Given the description of an element on the screen output the (x, y) to click on. 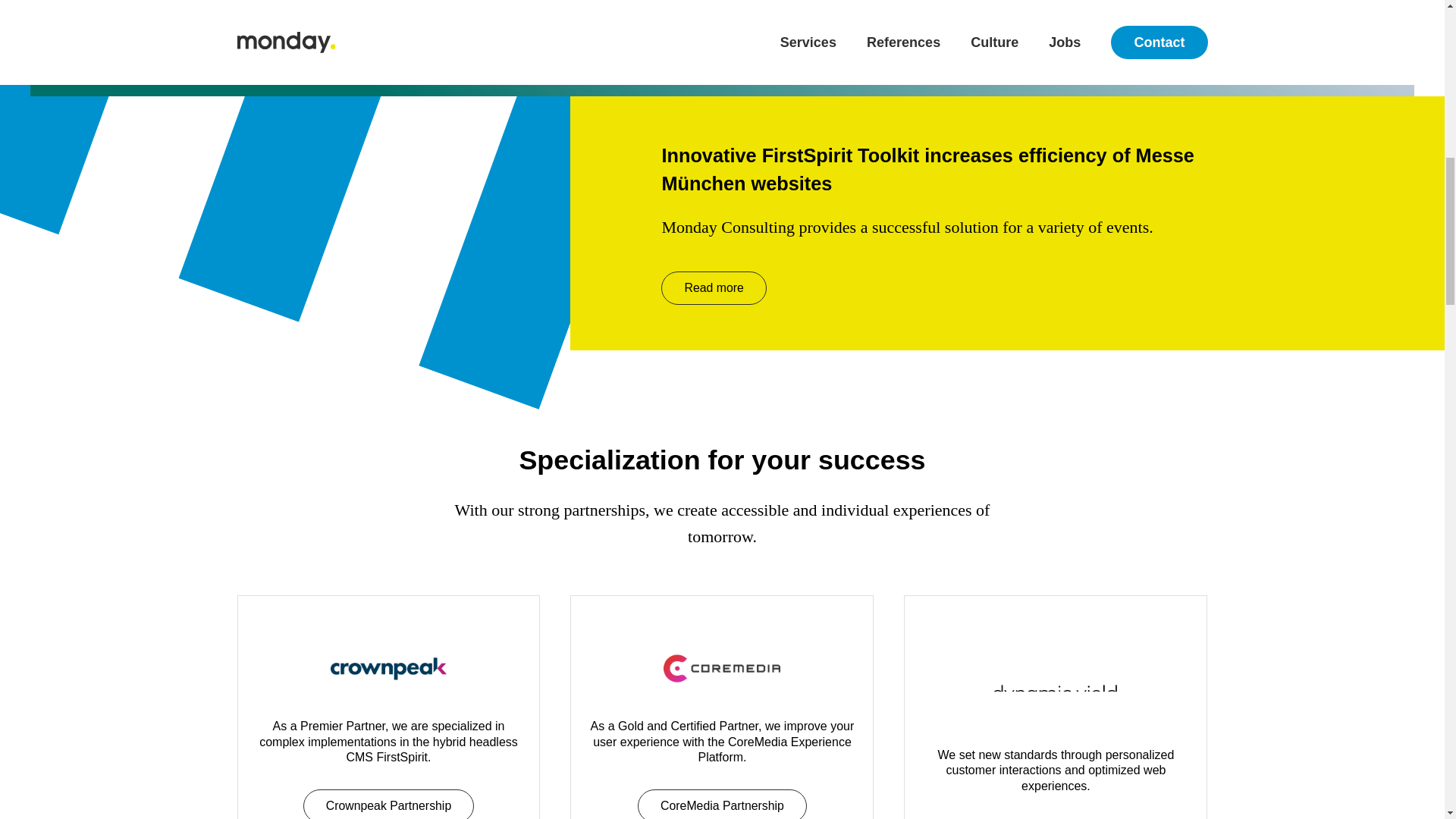
Crownpeak Partnership (388, 804)
CoreMedia Partnership (721, 804)
Read more (713, 287)
